Given the description of an element on the screen output the (x, y) to click on. 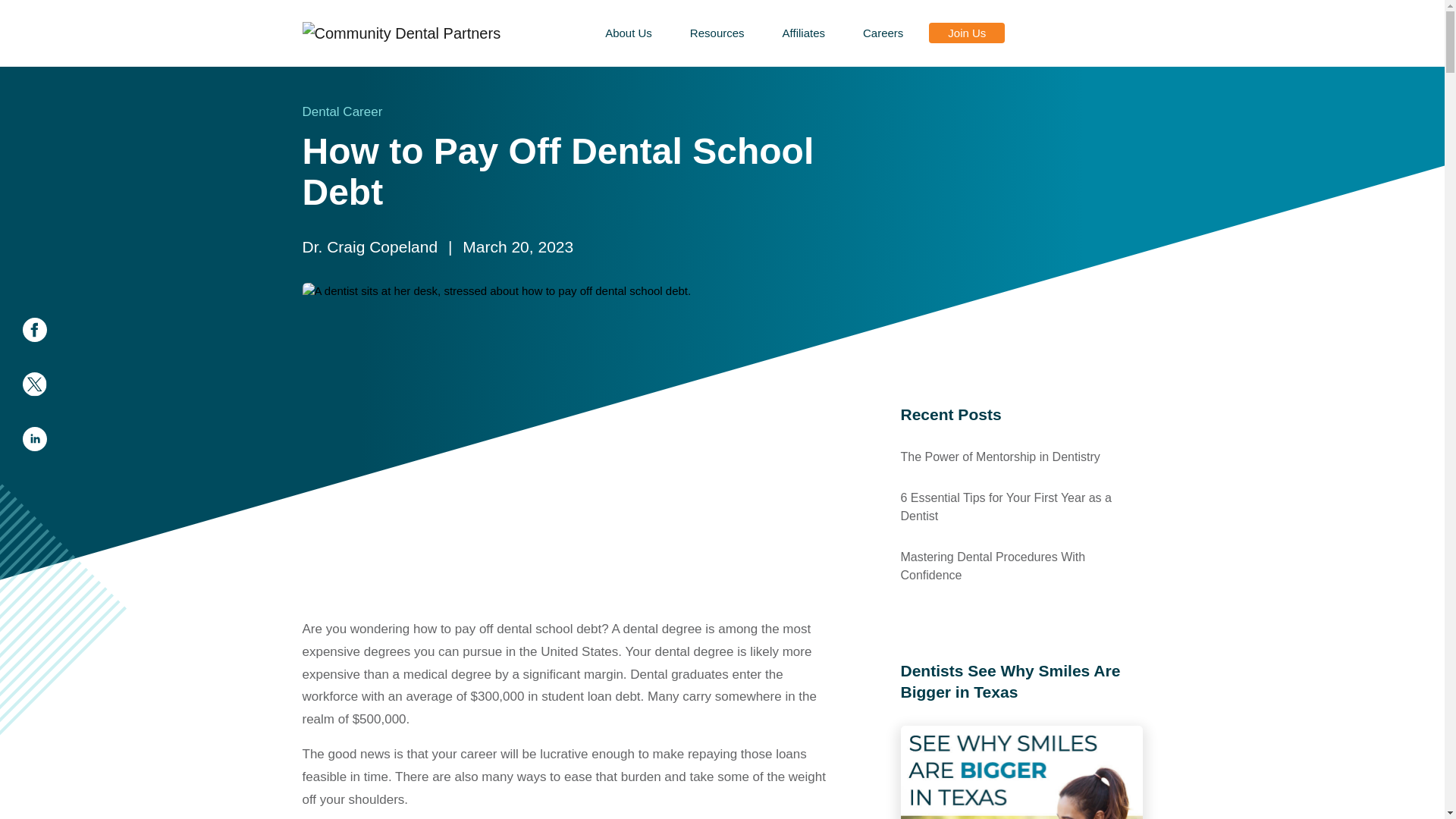
Dentists See Why Smiles Are Bigger in Texas (1021, 772)
Affiliates (803, 32)
Join Us (966, 32)
About Us (627, 32)
Careers (882, 32)
Resources (717, 32)
